Given the description of an element on the screen output the (x, y) to click on. 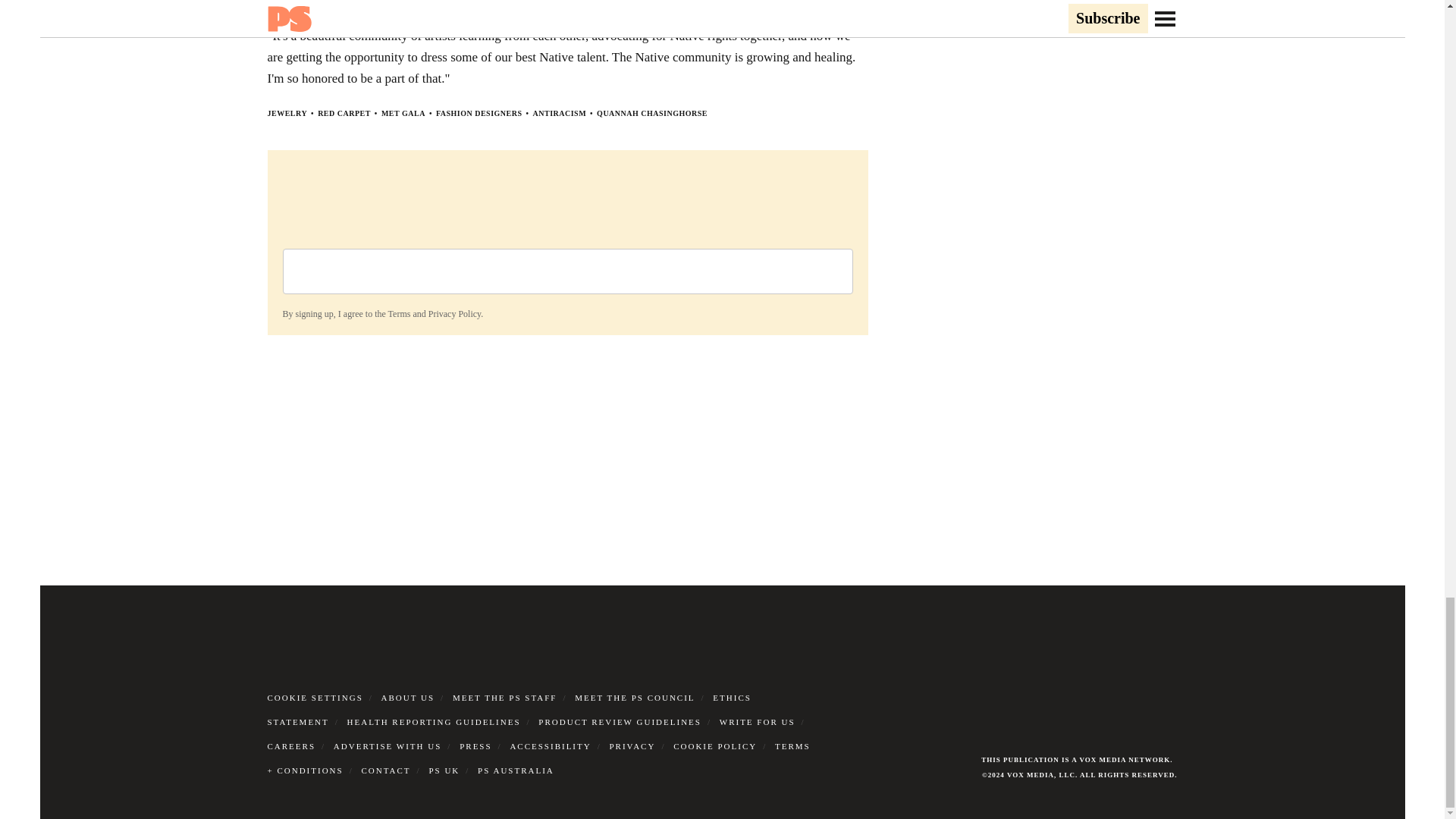
ABOUT US (408, 697)
Terms (399, 313)
Privacy Policy. (455, 313)
MET GALA (403, 112)
ANTIRACISM (559, 112)
MEET THE PS STAFF (504, 697)
FASHION DESIGNERS (478, 112)
JEWELRY (286, 112)
QUANNAH CHASINGHORSE (651, 112)
MEET THE PS COUNCIL (634, 697)
